Given the description of an element on the screen output the (x, y) to click on. 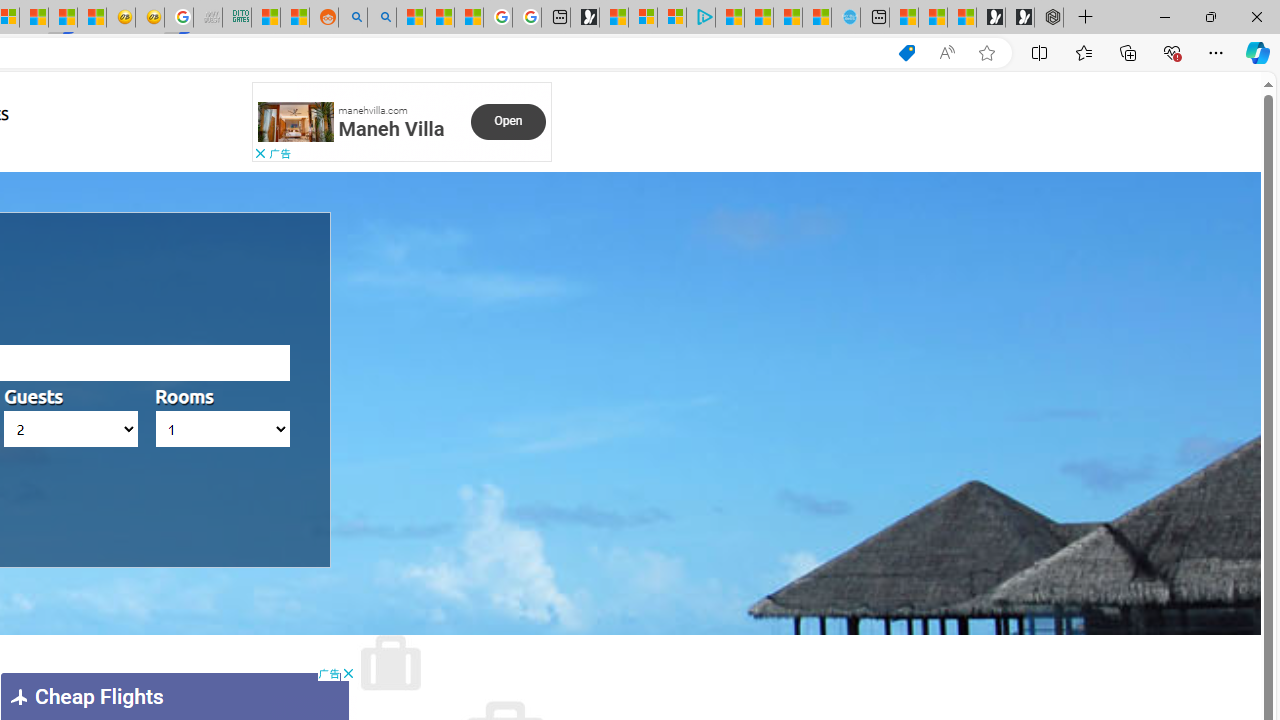
Class: ns-pn6gp-e-2 svg-anchor text-button-final (508, 121)
